Given the description of an element on the screen output the (x, y) to click on. 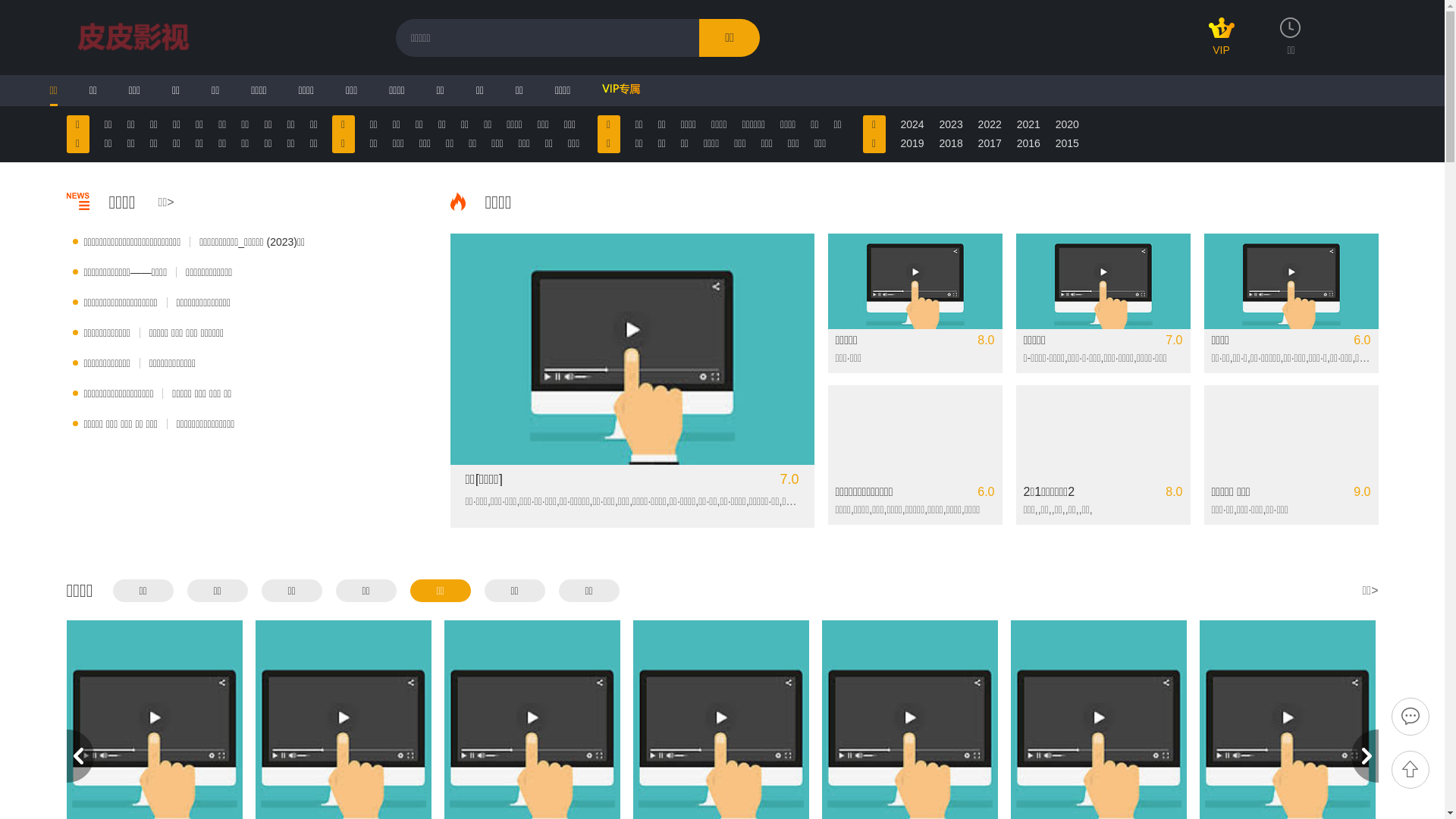
2016 Element type: text (1028, 143)
2019 Element type: text (912, 143)
2018 Element type: text (951, 143)
VIP Element type: text (1221, 43)
2015 Element type: text (1067, 143)
2021 Element type: text (1028, 124)
2022 Element type: text (989, 124)
2020 Element type: text (1067, 124)
2023 Element type: text (951, 124)
2017 Element type: text (989, 143)
2024 Element type: text (912, 124)
